Given the description of an element on the screen output the (x, y) to click on. 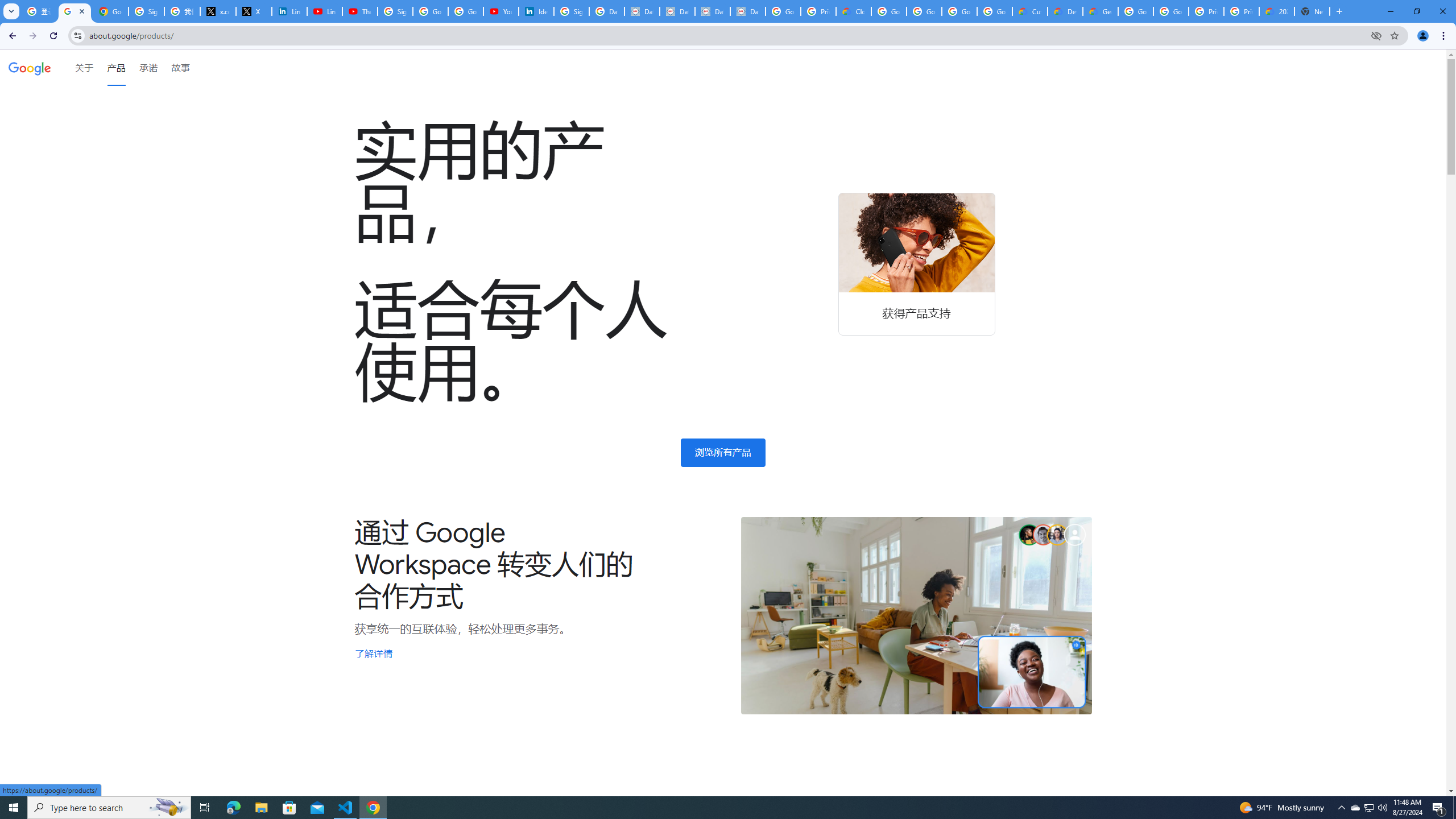
Google Workspace - Specific Terms (994, 11)
Data Privacy Framework (677, 11)
